Given the description of an element on the screen output the (x, y) to click on. 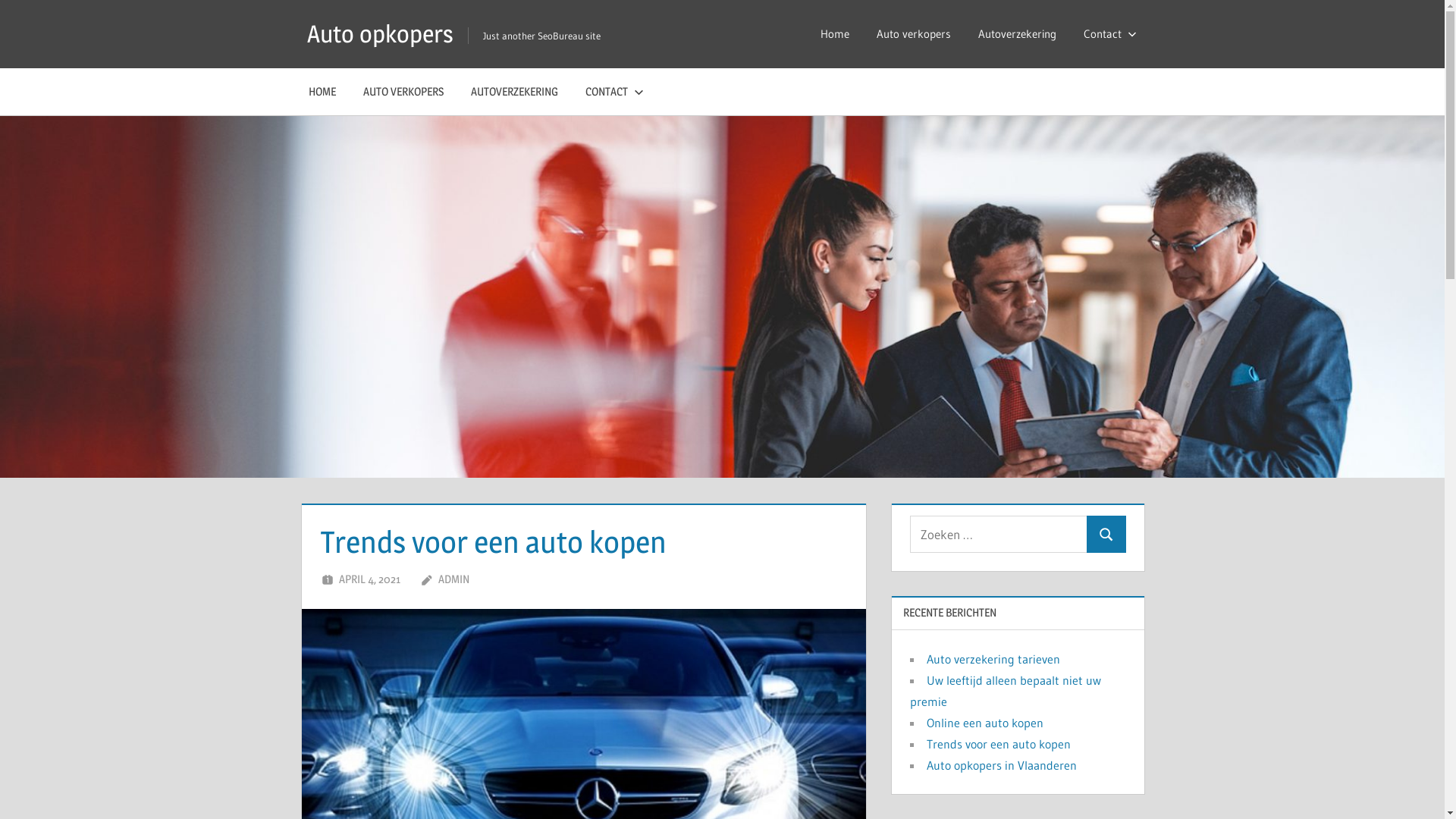
Home Element type: text (834, 33)
Auto opkopers Element type: text (380, 33)
CONTACT Element type: text (611, 91)
Uw leeftijd alleen bepaalt niet uw premie Element type: text (1005, 690)
Contact Element type: text (1106, 33)
Trends voor een auto kopen Element type: text (998, 743)
Zoeken Element type: text (1105, 533)
Auto verzekering tarieven Element type: text (993, 658)
AUTOVERZEKERING Element type: text (514, 91)
Auto opkopers in Vlaanderen Element type: text (1001, 764)
Auto verkopers Element type: text (913, 33)
APRIL 4, 2021 Element type: text (369, 578)
AUTO VERKOPERS Element type: text (403, 91)
Autoverzekering Element type: text (1017, 33)
Zoeken naar: Element type: hover (998, 533)
HOME Element type: text (321, 91)
ADMIN Element type: text (453, 578)
Online een auto kopen Element type: text (984, 722)
